Given the description of an element on the screen output the (x, y) to click on. 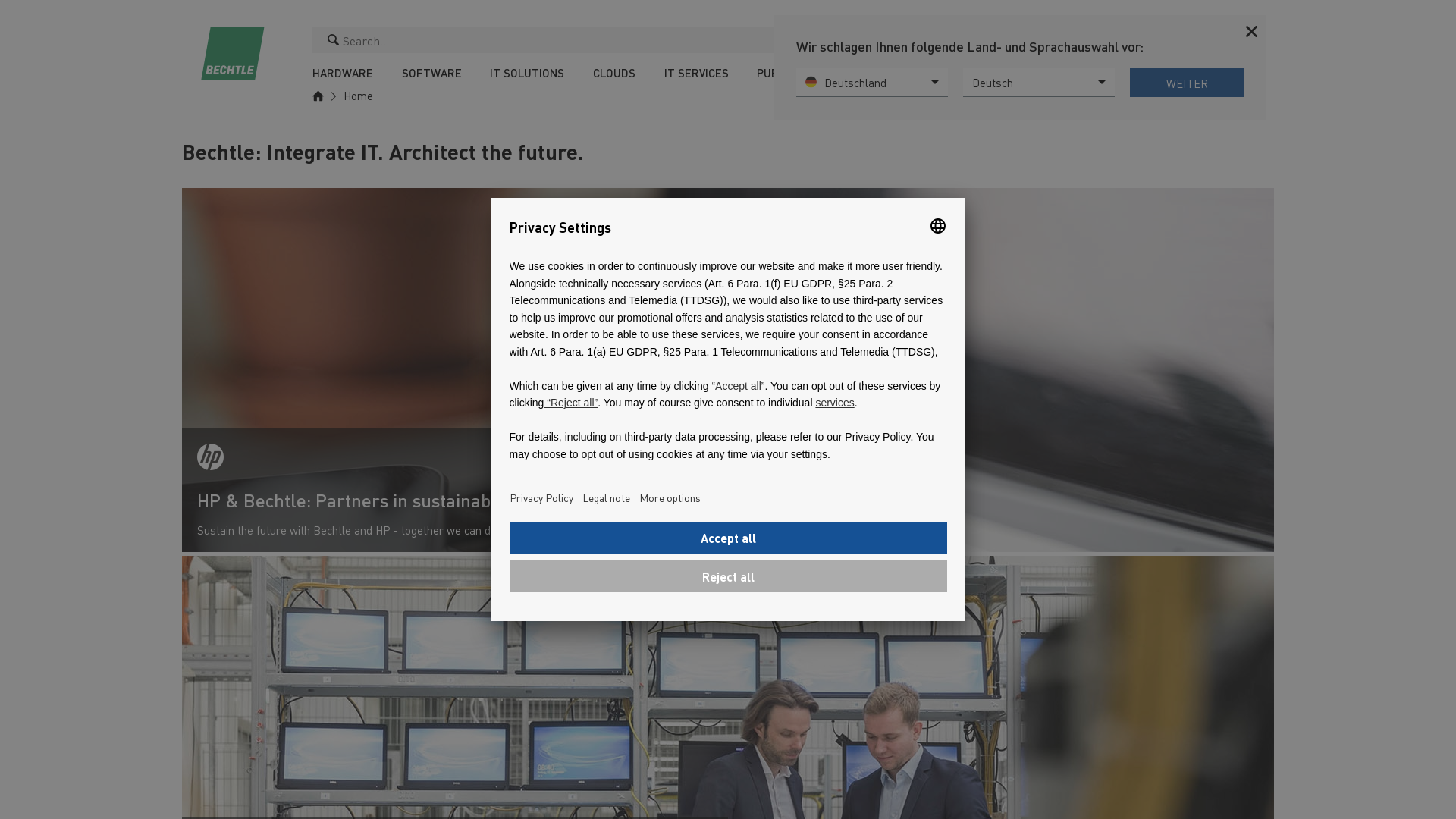
Deutschland Element type: text (871, 82)
Deutsch Element type: text (1038, 82)
Shopping basket Element type: hover (1242, 40)
HP & Bechtle: Partners in sustainability. Element type: text (454, 504)
BE/en Element type: hover (1152, 40)
WEITER Element type: text (1186, 82)
Compare products Element type: hover (1182, 40)
Home Element type: text (354, 94)
My Bechtle Element type: hover (1211, 40)
